Given the description of an element on the screen output the (x, y) to click on. 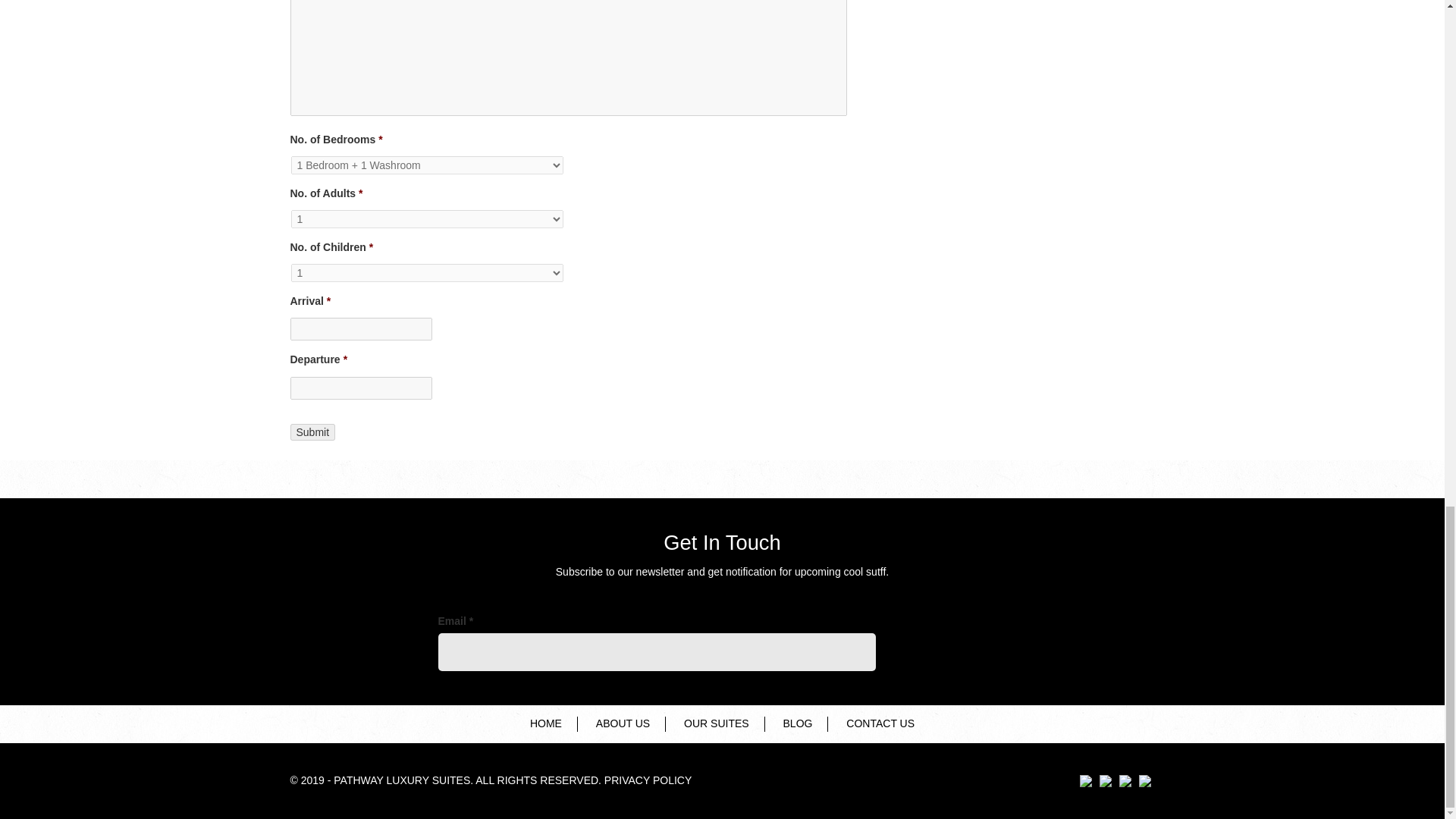
Subscribe! (947, 655)
Email (657, 651)
Submit (311, 431)
OUR SUITES (716, 724)
Submit (311, 431)
ABOUT US (622, 724)
Subscribe! (947, 655)
CONTACT US (880, 724)
HOME (545, 724)
BLOG (798, 724)
